Given the description of an element on the screen output the (x, y) to click on. 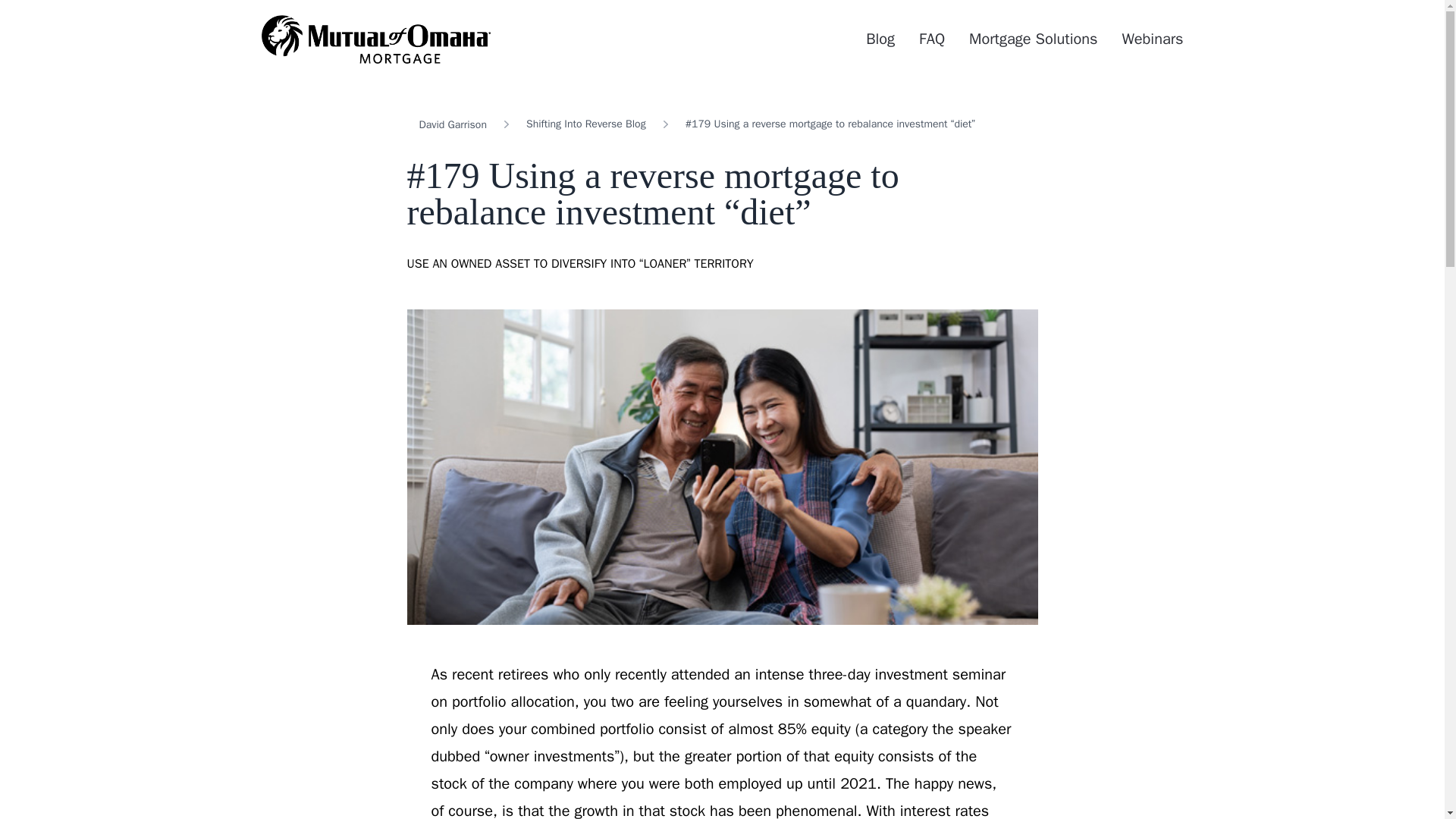
Mortgage Solutions (1033, 38)
Blog (880, 38)
Shifting Into Reverse Blog (585, 124)
Webinars (1151, 38)
David Garrison (452, 124)
FAQ (931, 38)
